Given the description of an element on the screen output the (x, y) to click on. 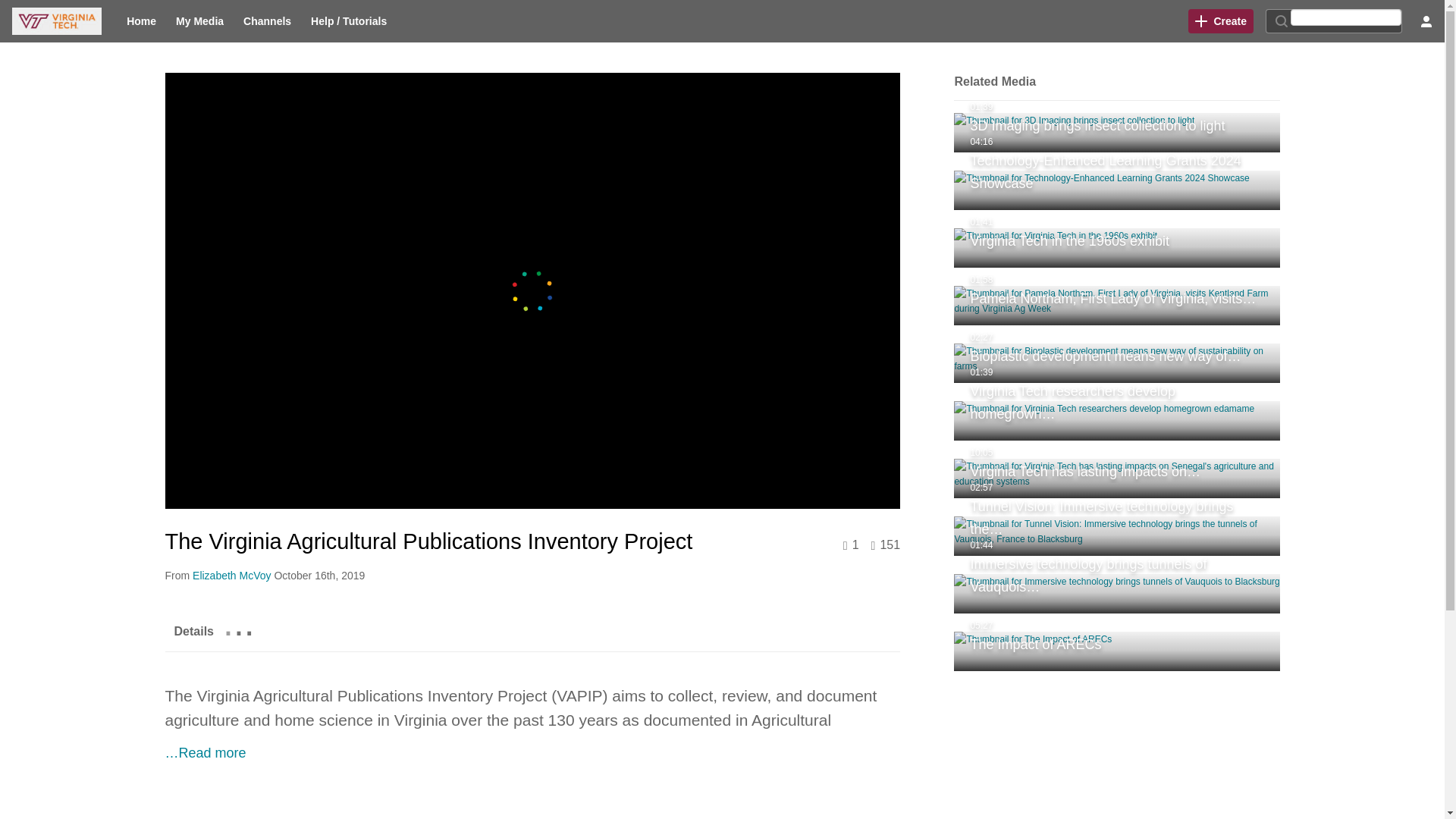
Channels (267, 21)
My Media (199, 21)
Elizabeth McVoy (1073, 131)
3D Imaging brings insect collection to light (231, 575)
Home (1116, 132)
